Given the description of an element on the screen output the (x, y) to click on. 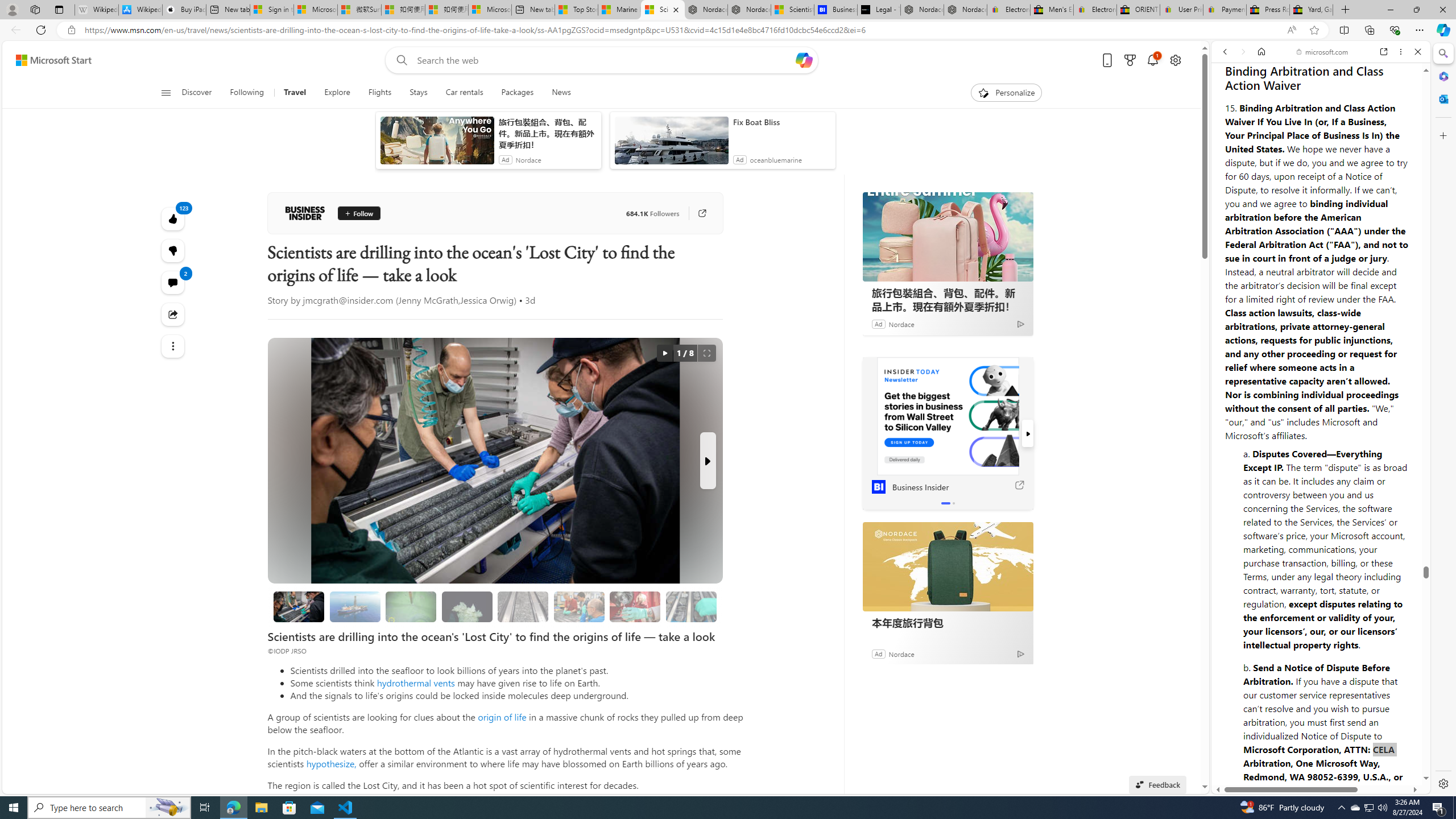
Full screen (706, 352)
Follow (358, 213)
Microsoft account | Account Checkup (489, 9)
Nordace (901, 653)
Legal (1291, 751)
Researchers are still studying the samples (690, 606)
Personalize (1006, 92)
Microsoft Services Agreement (315, 9)
Share this story (172, 314)
